Given the description of an element on the screen output the (x, y) to click on. 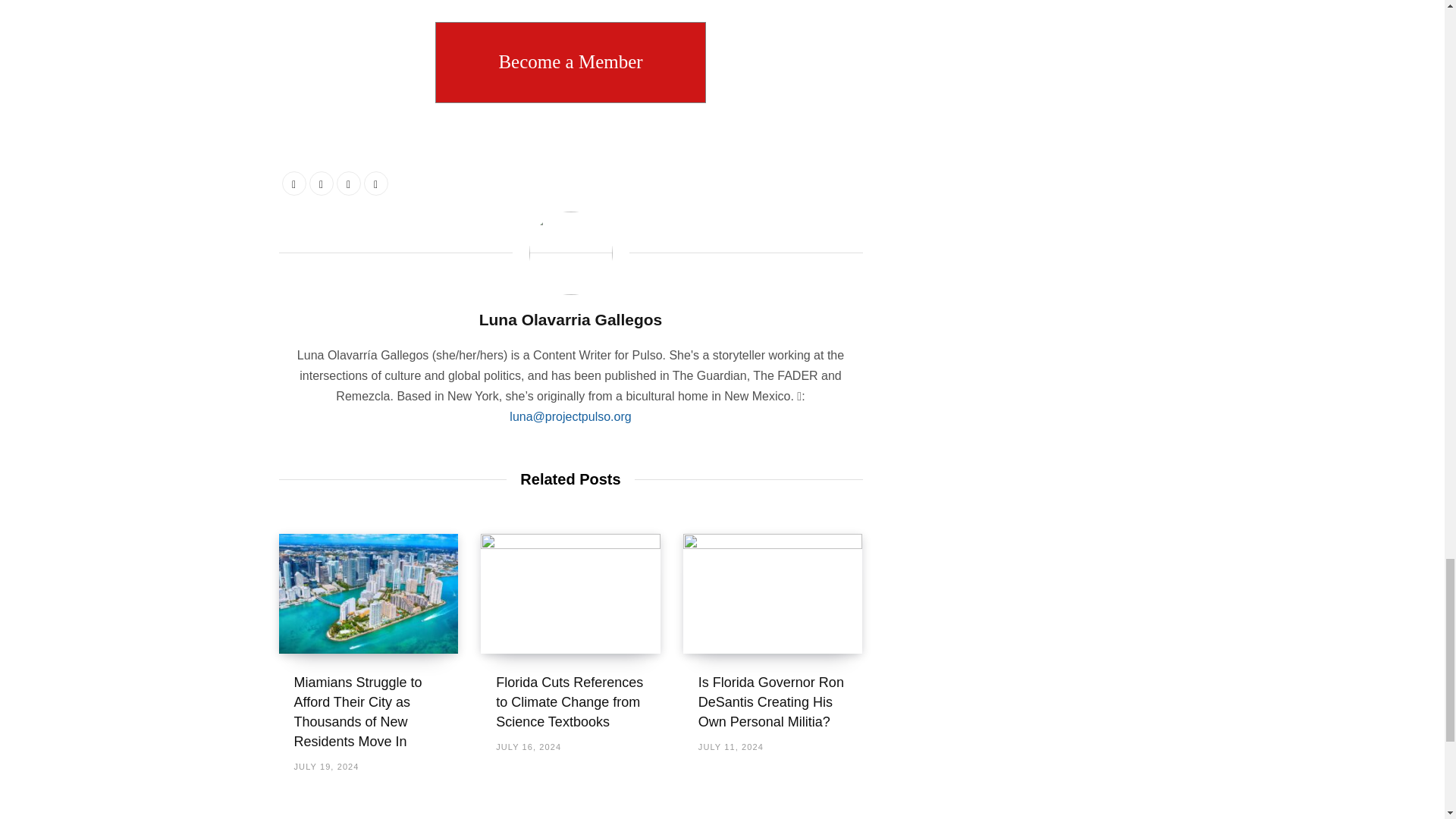
Twitter (320, 183)
LinkedIn (348, 183)
Pinterest (376, 183)
Posts by Luna Olavarria Gallegos (570, 319)
Facebook (293, 183)
